Given the description of an element on the screen output the (x, y) to click on. 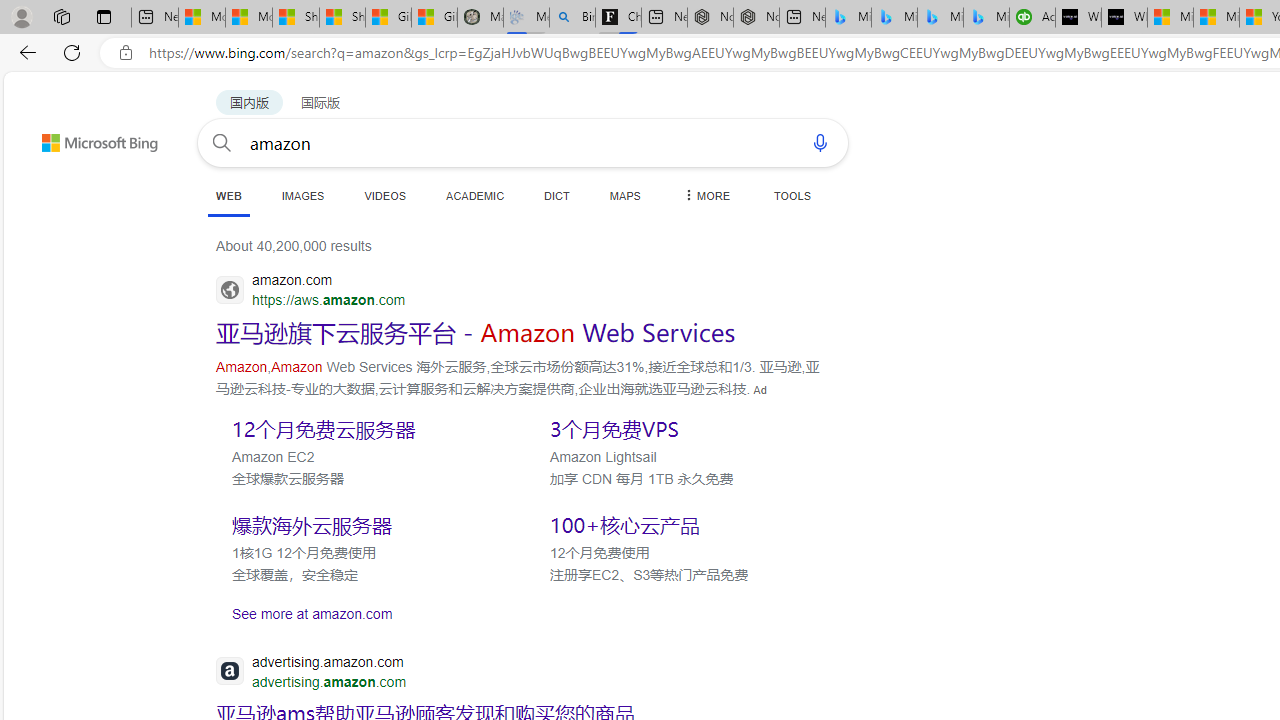
ACADEMIC (475, 195)
TOOLS (792, 195)
SERP,5551 (683, 428)
Microsoft Bing Travel - Shangri-La Hotel Bangkok (985, 17)
SERP,5552 (365, 525)
Bing Real Estate - Home sales and rental listings (572, 17)
Chloe Sorvino (618, 17)
Manatee Mortality Statistics | FWC (480, 17)
Dropdown Menu (705, 195)
Microsoft Bing Travel - Stays in Bangkok, Bangkok, Thailand (893, 17)
VIDEOS (384, 195)
Back to Bing search (87, 138)
